Given the description of an element on the screen output the (x, y) to click on. 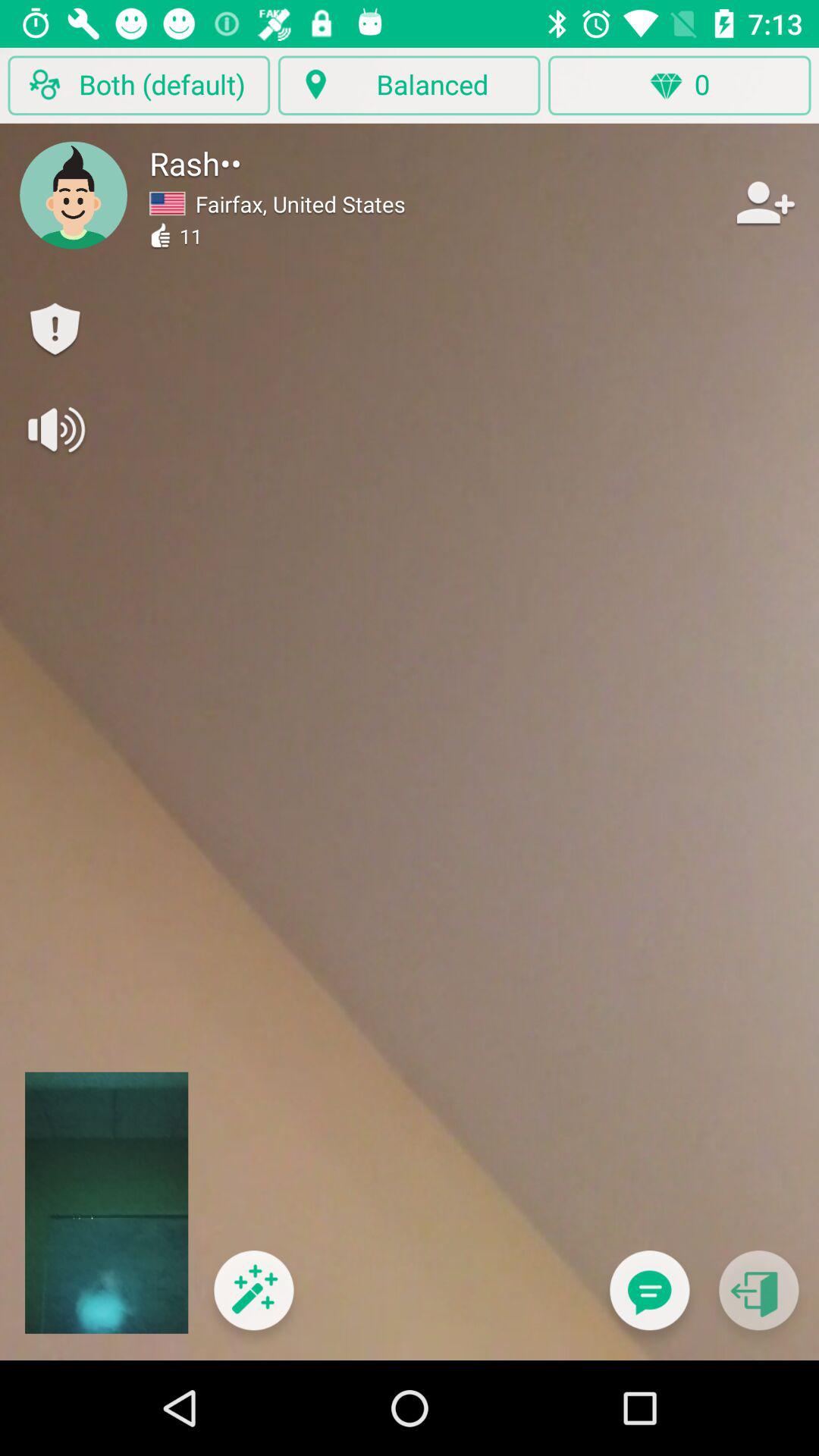
open user profile (73, 195)
